Given the description of an element on the screen output the (x, y) to click on. 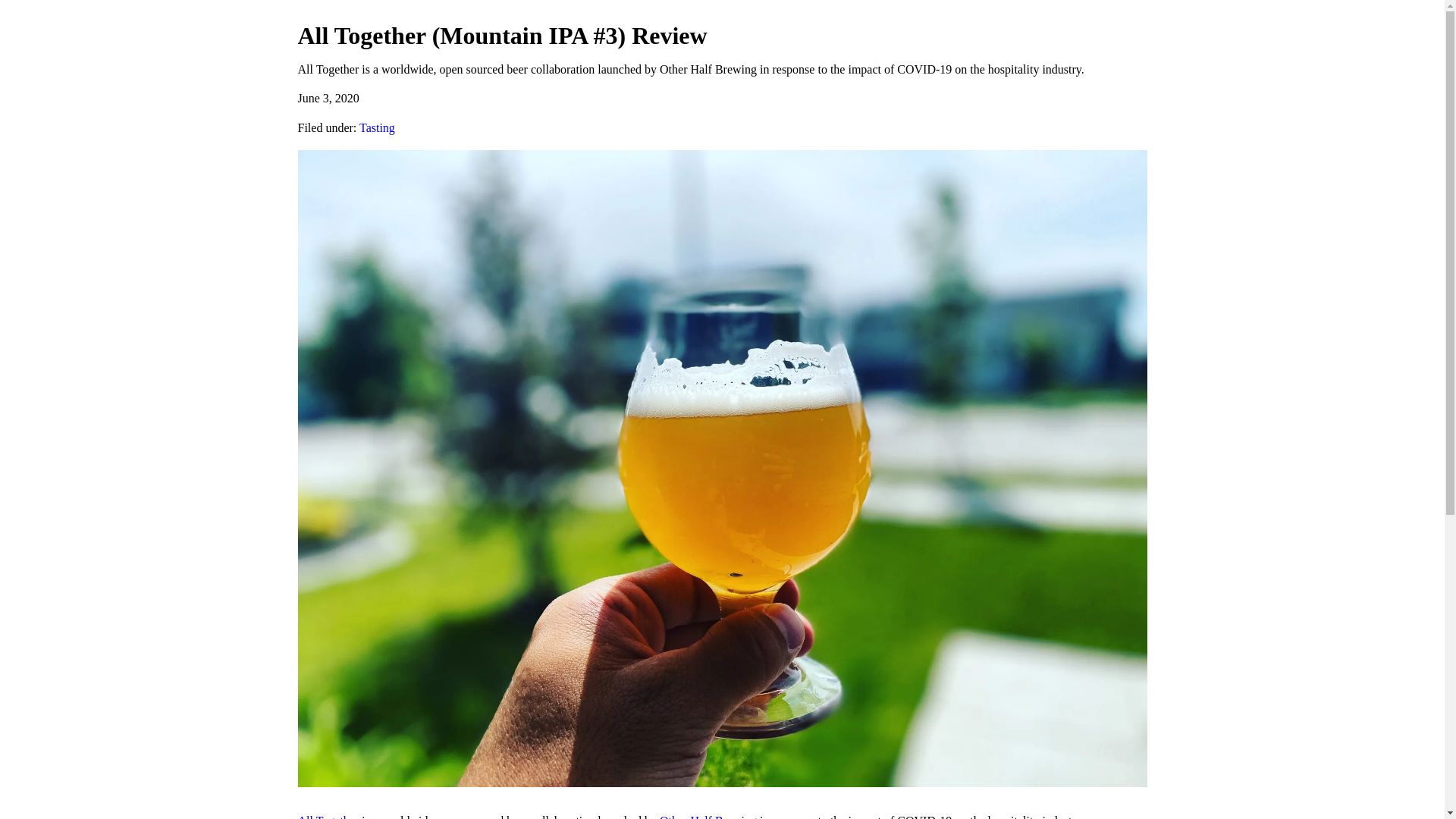
Other Half Brewing (708, 816)
Tasting (376, 127)
All Together (327, 816)
